Given the description of an element on the screen output the (x, y) to click on. 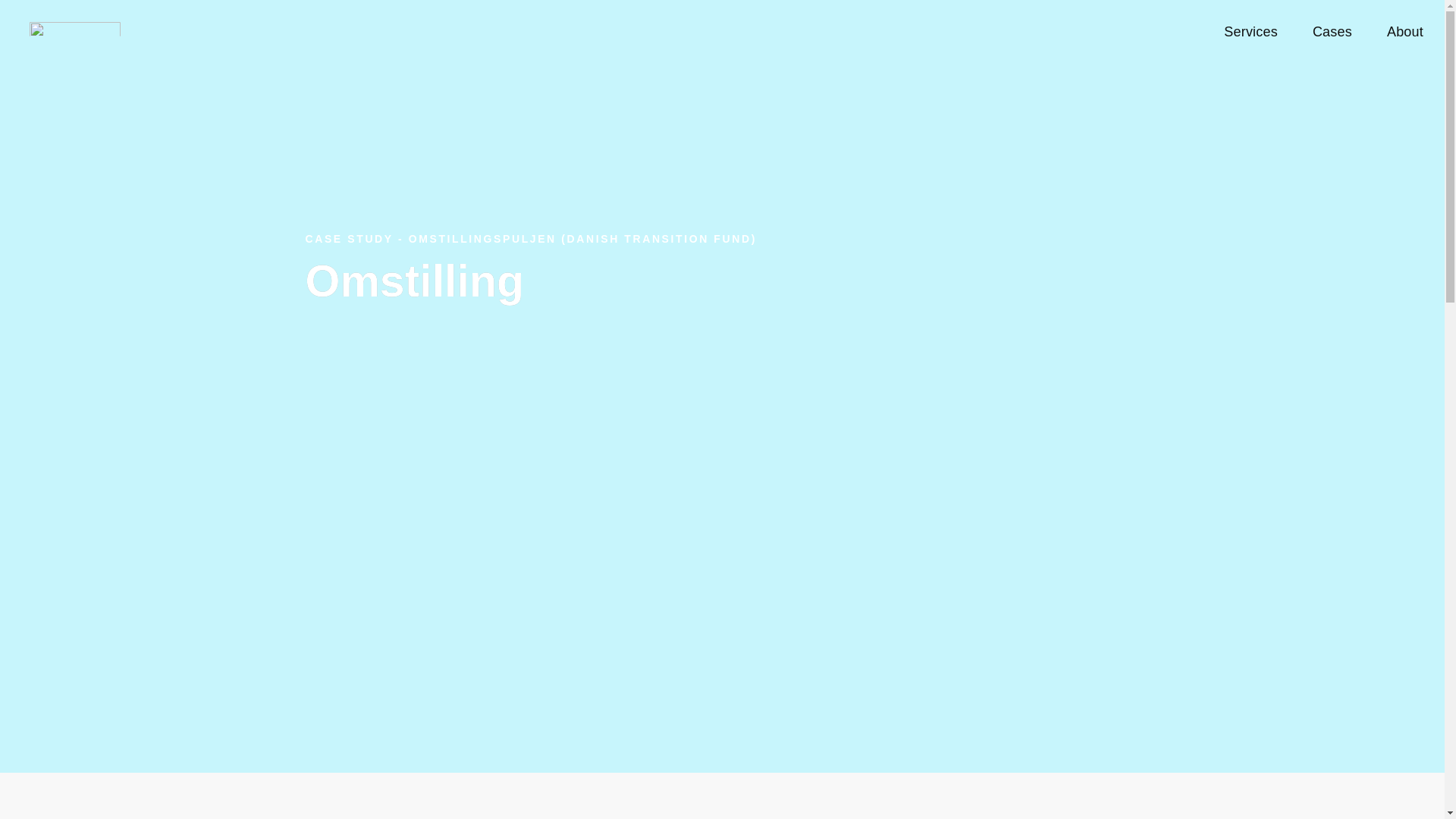
Cases (1331, 31)
About (1405, 31)
Services (1250, 31)
